Given the description of an element on the screen output the (x, y) to click on. 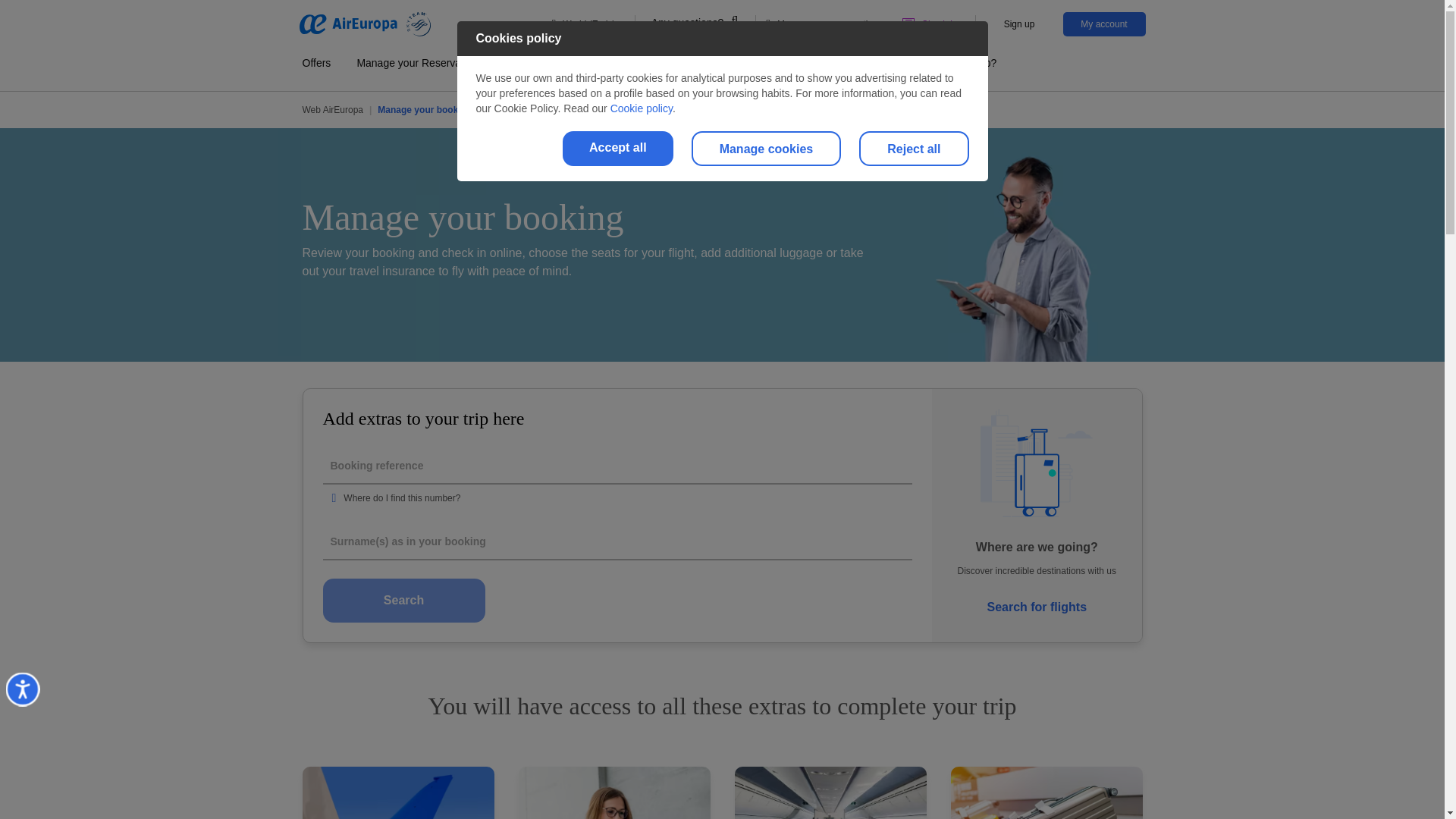
Check-in (930, 24)
Manage your reservation (822, 24)
Accessibility (39, 705)
Web AirEuropa (331, 109)
My account (1103, 24)
Search (403, 600)
Manage your booking (424, 109)
Sign up (1018, 24)
